Given the description of an element on the screen output the (x, y) to click on. 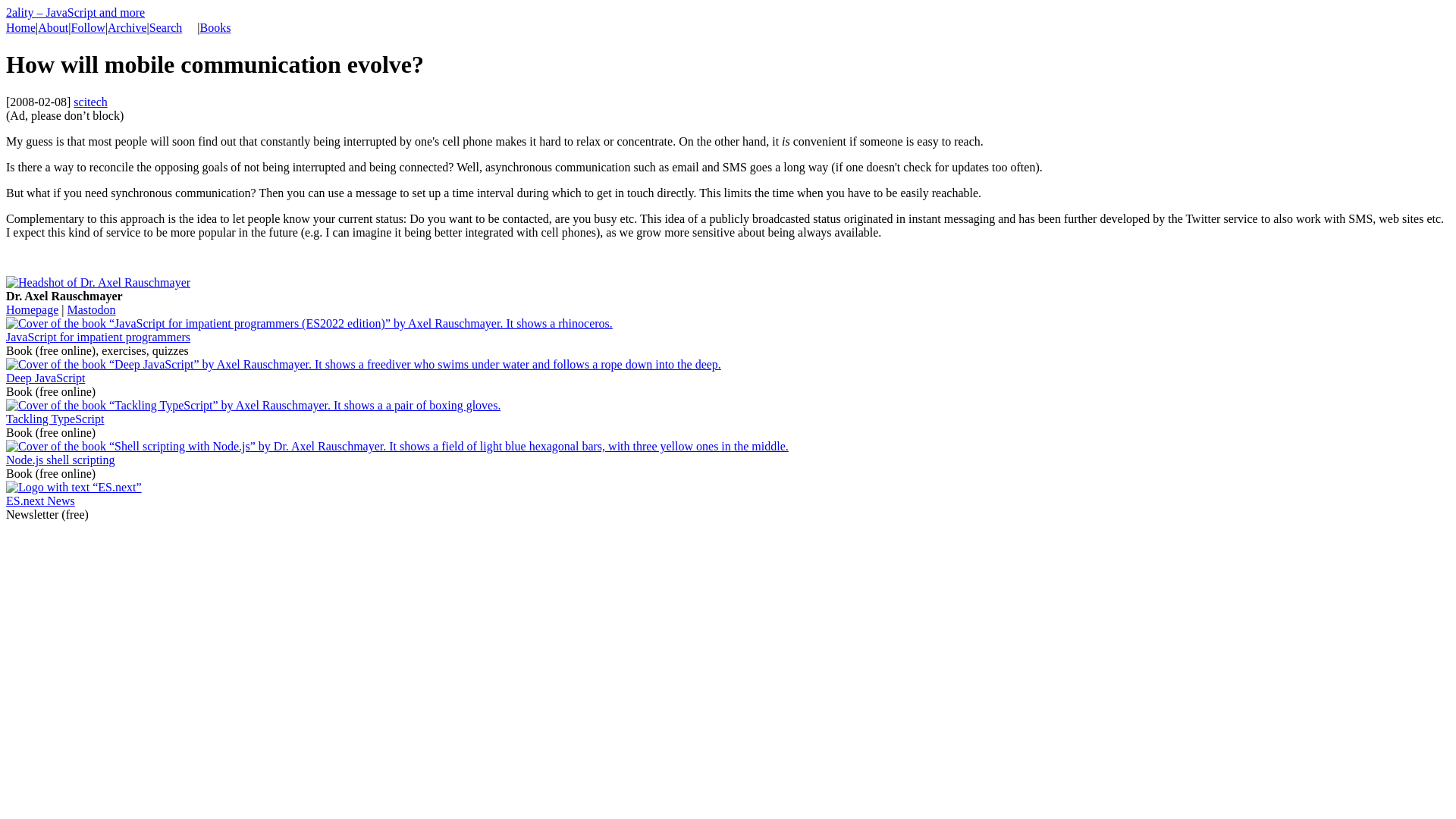
Node.js shell scripting Element type: text (60, 459)
Mastodon Element type: text (91, 309)
Tackling TypeScript Element type: text (54, 418)
Archive Element type: text (127, 27)
Books Element type: text (215, 27)
About Element type: text (52, 27)
Homepage Element type: text (32, 309)
JavaScript for impatient programmers Element type: text (98, 336)
Follow Element type: text (88, 27)
scitech Element type: text (89, 101)
Deep JavaScript Element type: text (45, 377)
Search Element type: text (165, 27)
ES.next News Element type: text (40, 500)
Home Element type: text (20, 27)
